Given the description of an element on the screen output the (x, y) to click on. 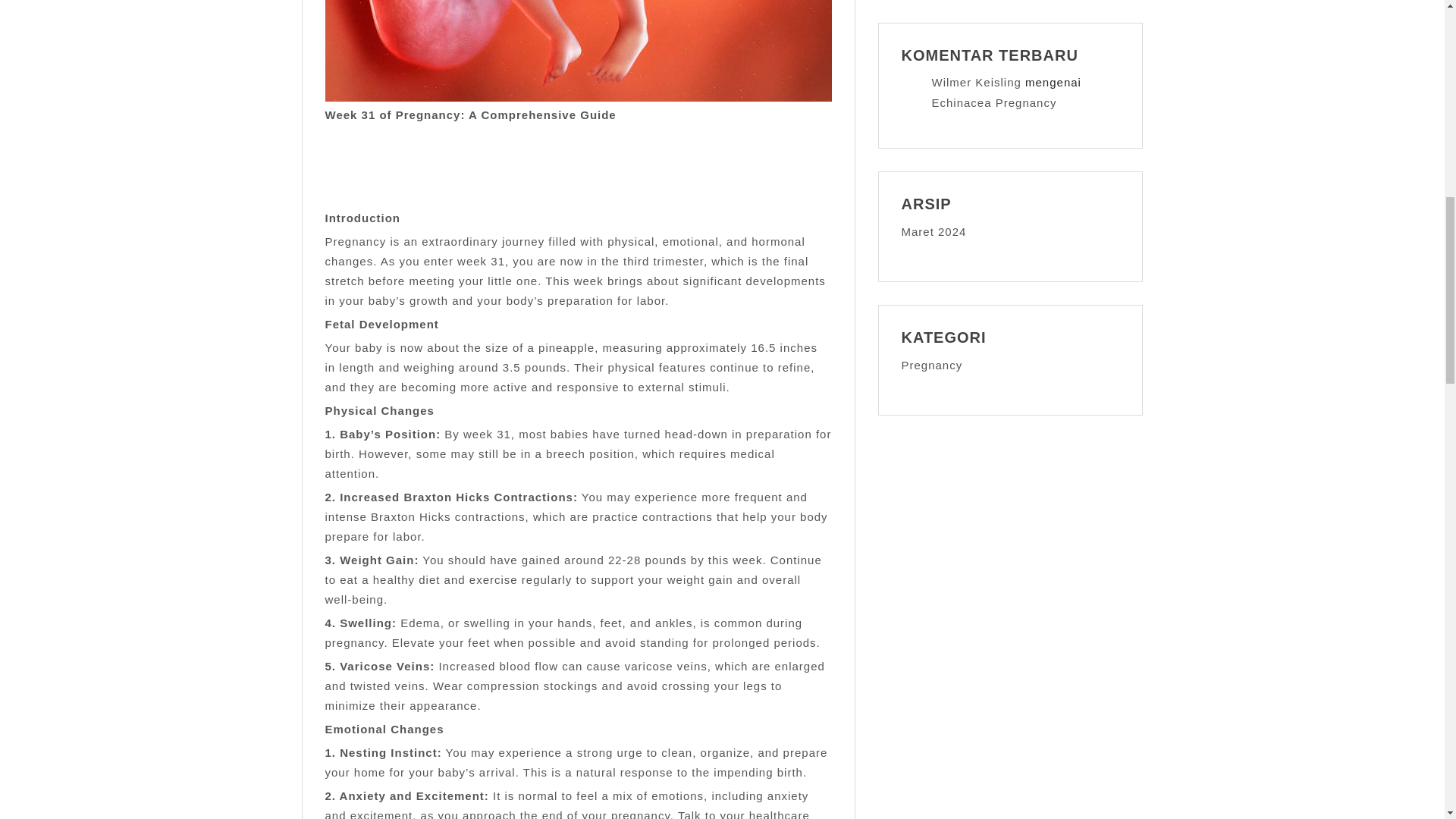
Echinacea Pregnancy (994, 102)
Pregnancy (931, 364)
Maret 2024 (933, 231)
Wilmer Keisling (975, 82)
